Given the description of an element on the screen output the (x, y) to click on. 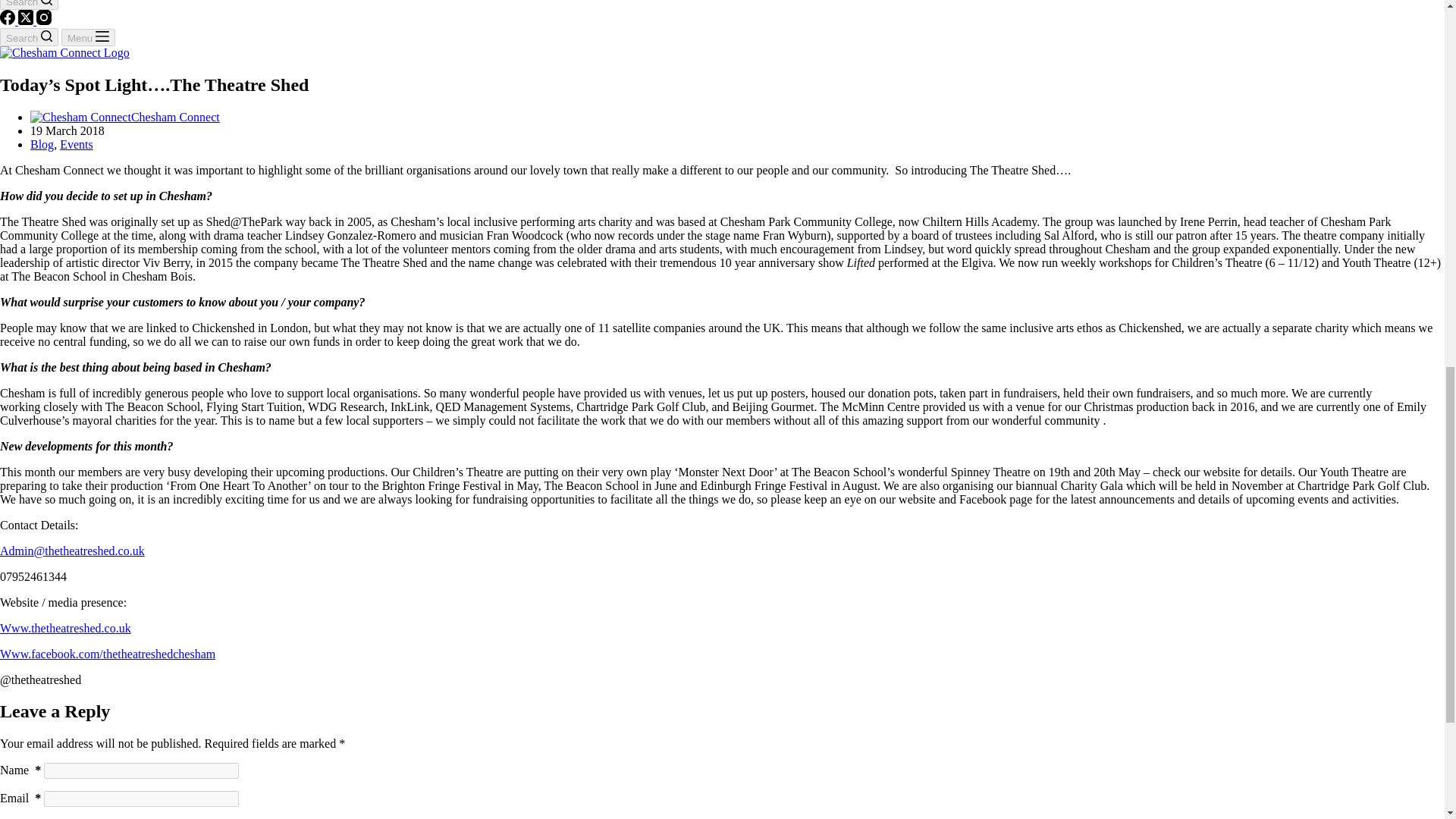
Posts by Chesham Connect (175, 116)
